Given the description of an element on the screen output the (x, y) to click on. 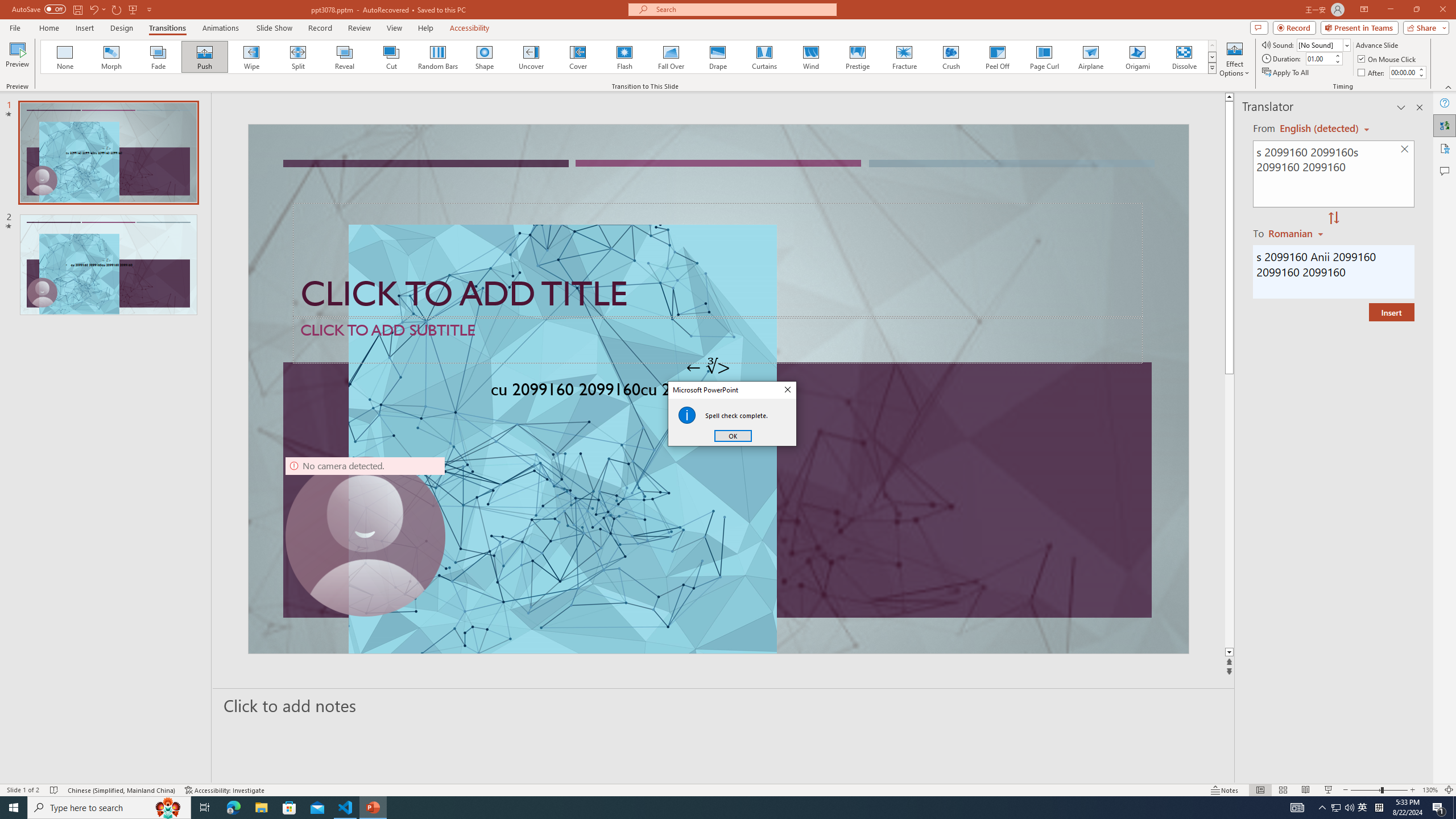
Reveal (344, 56)
Drape (717, 56)
Camera 9, No camera detected. (364, 536)
Random Bars (437, 56)
None (65, 56)
